Given the description of an element on the screen output the (x, y) to click on. 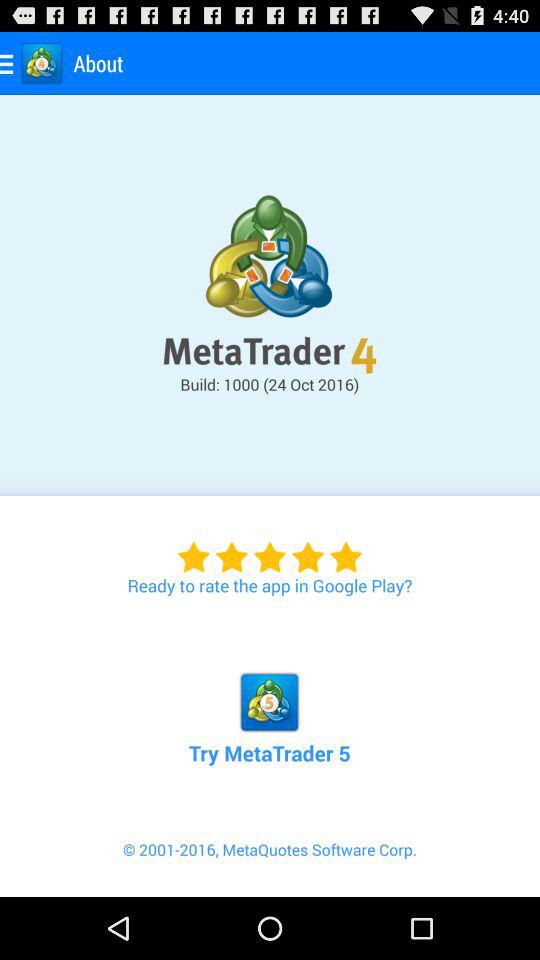
turn off the ready to rate item (269, 545)
